Given the description of an element on the screen output the (x, y) to click on. 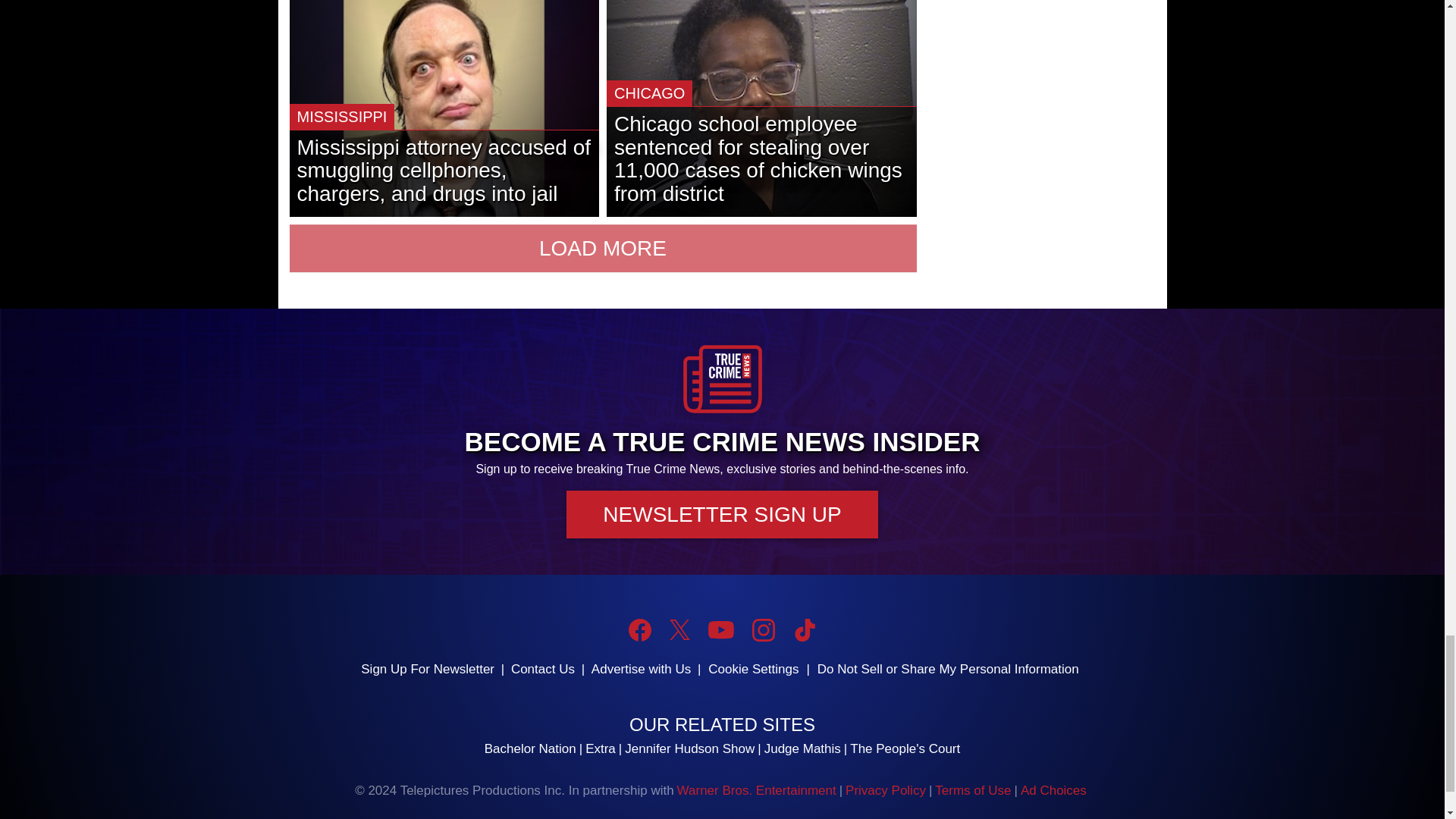
TikTok (804, 630)
Facebook (639, 630)
YouTube (720, 629)
Instagram (763, 630)
Twitter (679, 629)
